Given the description of an element on the screen output the (x, y) to click on. 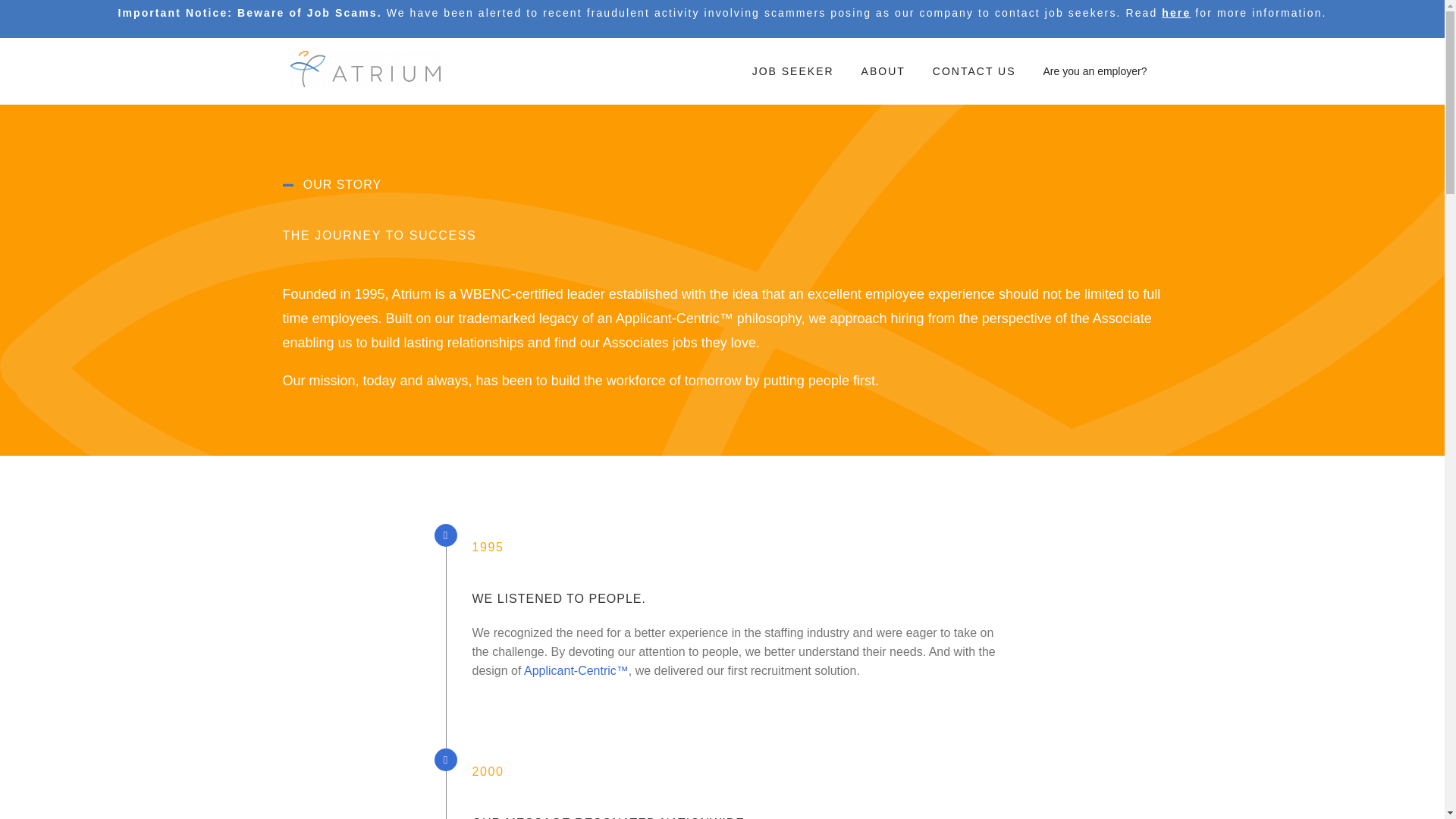
JOB SEEKER (794, 70)
here (1176, 12)
ABOUT (885, 70)
